Given the description of an element on the screen output the (x, y) to click on. 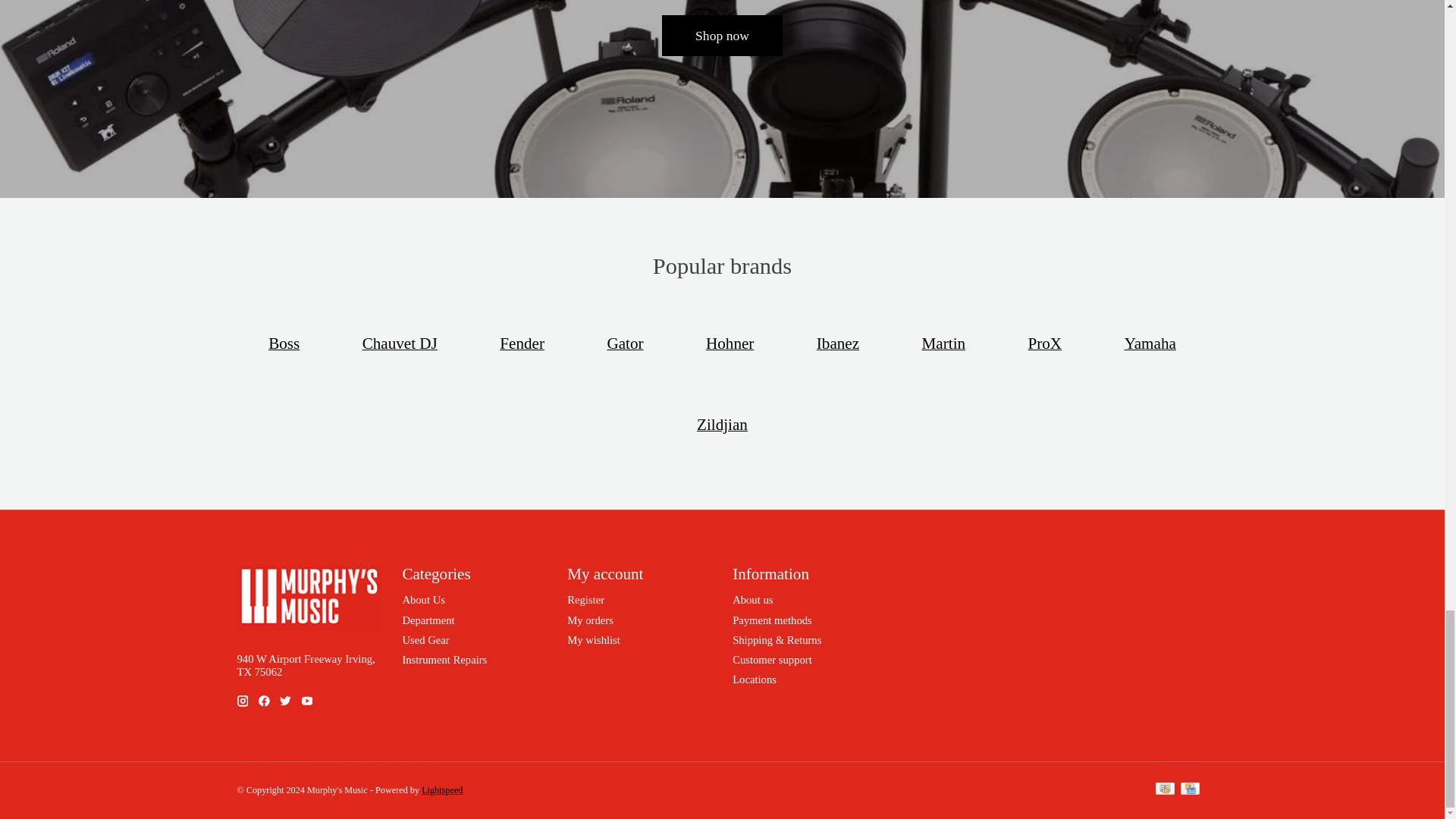
Fender (522, 342)
Chauvet DJ (399, 342)
Boss (283, 342)
